Given the description of an element on the screen output the (x, y) to click on. 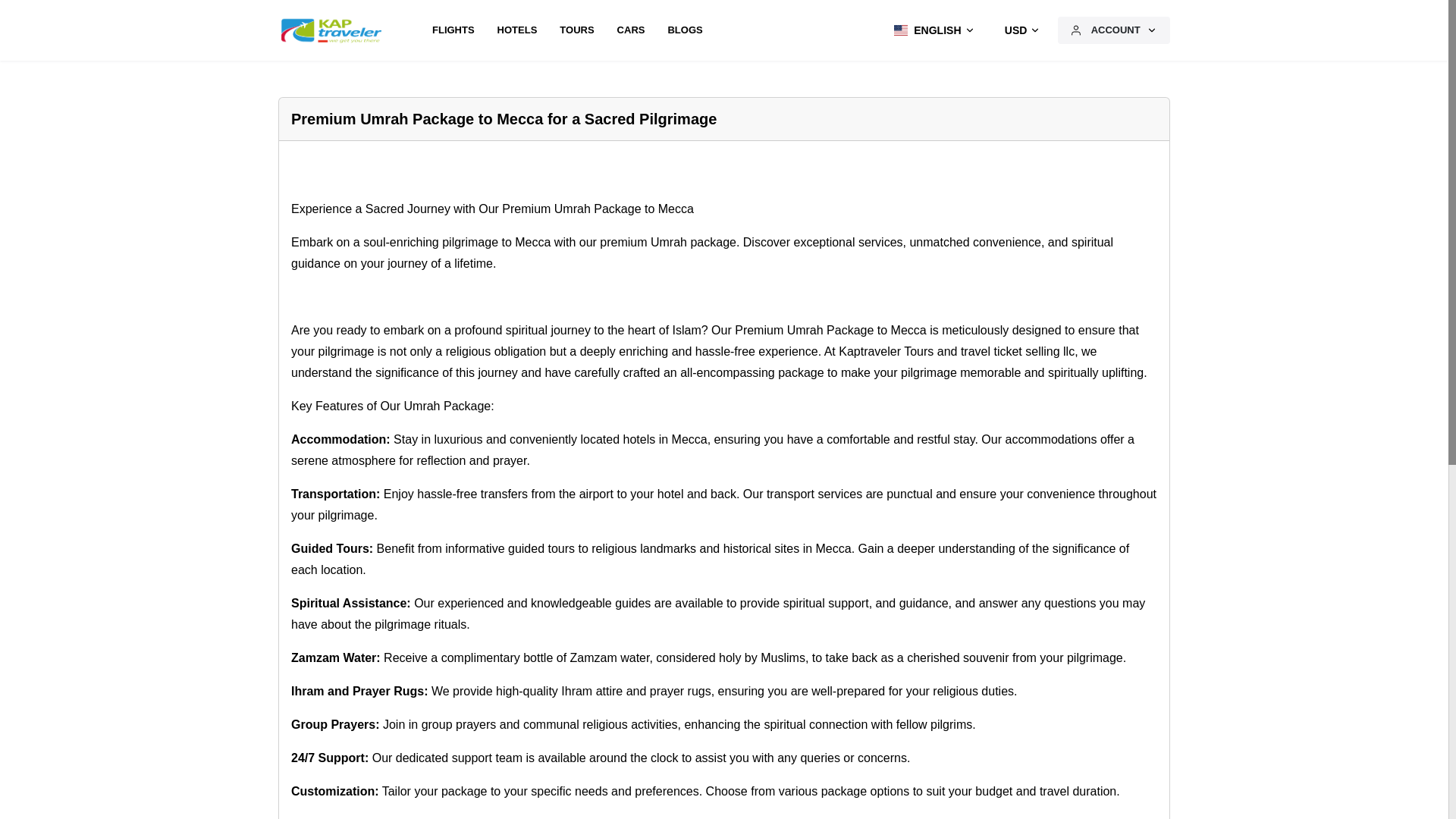
FLIGHTS (453, 30)
TOURS (576, 30)
ACCOUNT (1114, 30)
CARS (630, 30)
ENGLISH (930, 30)
USD (1021, 30)
BLOGS (684, 30)
HOTELS (517, 30)
